Given the description of an element on the screen output the (x, y) to click on. 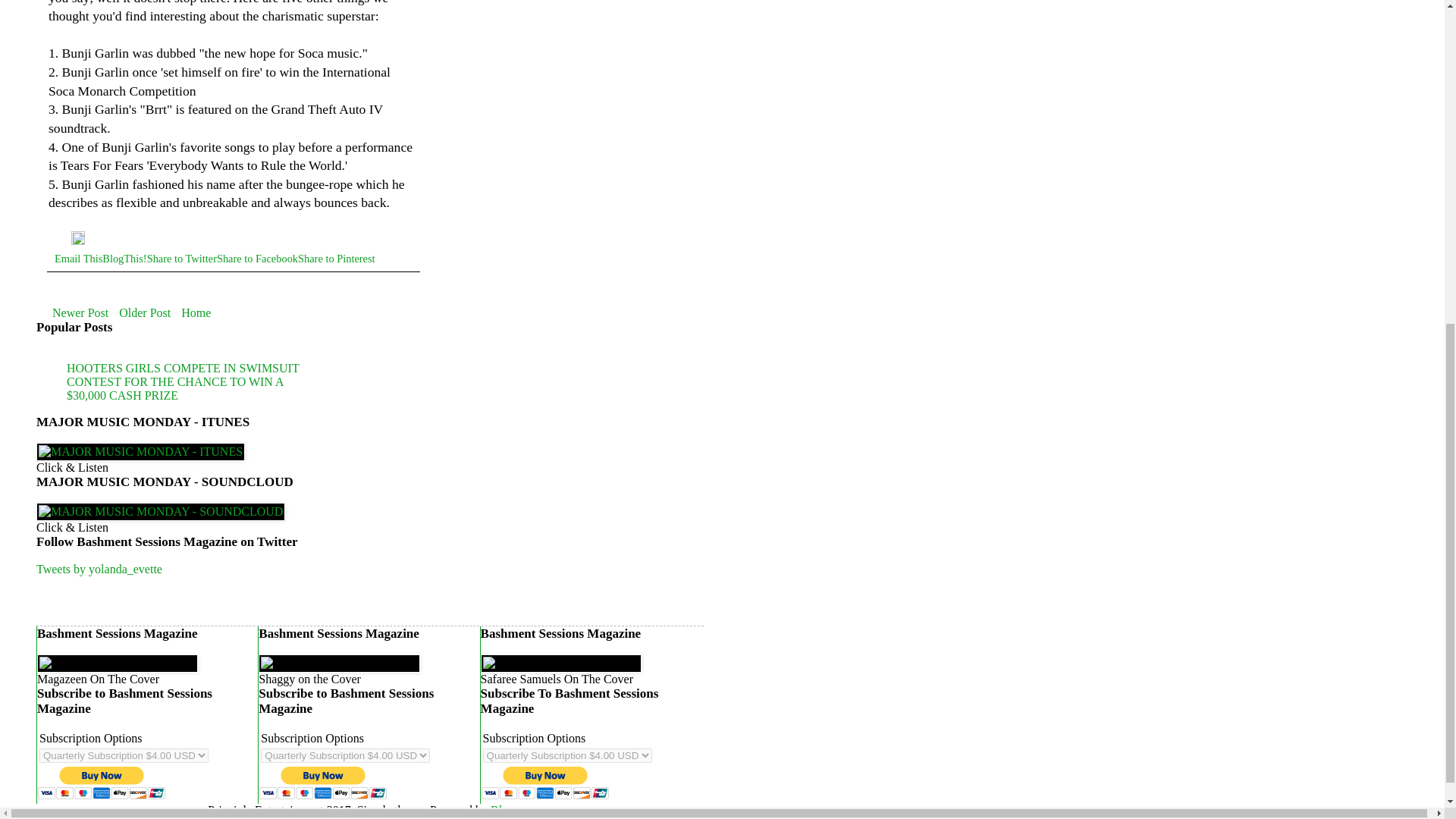
Older Post (144, 312)
Email Post (63, 241)
Blogger (509, 809)
Share to Facebook (257, 258)
Share to Twitter (181, 258)
Email This (78, 258)
BlogThis! (124, 258)
Home (195, 312)
Share to Pinterest (336, 258)
BlogThis! (124, 258)
Newer Post (80, 312)
Share to Pinterest (336, 258)
Share to Twitter (181, 258)
Share to Facebook (257, 258)
Older Post (144, 312)
